Given the description of an element on the screen output the (x, y) to click on. 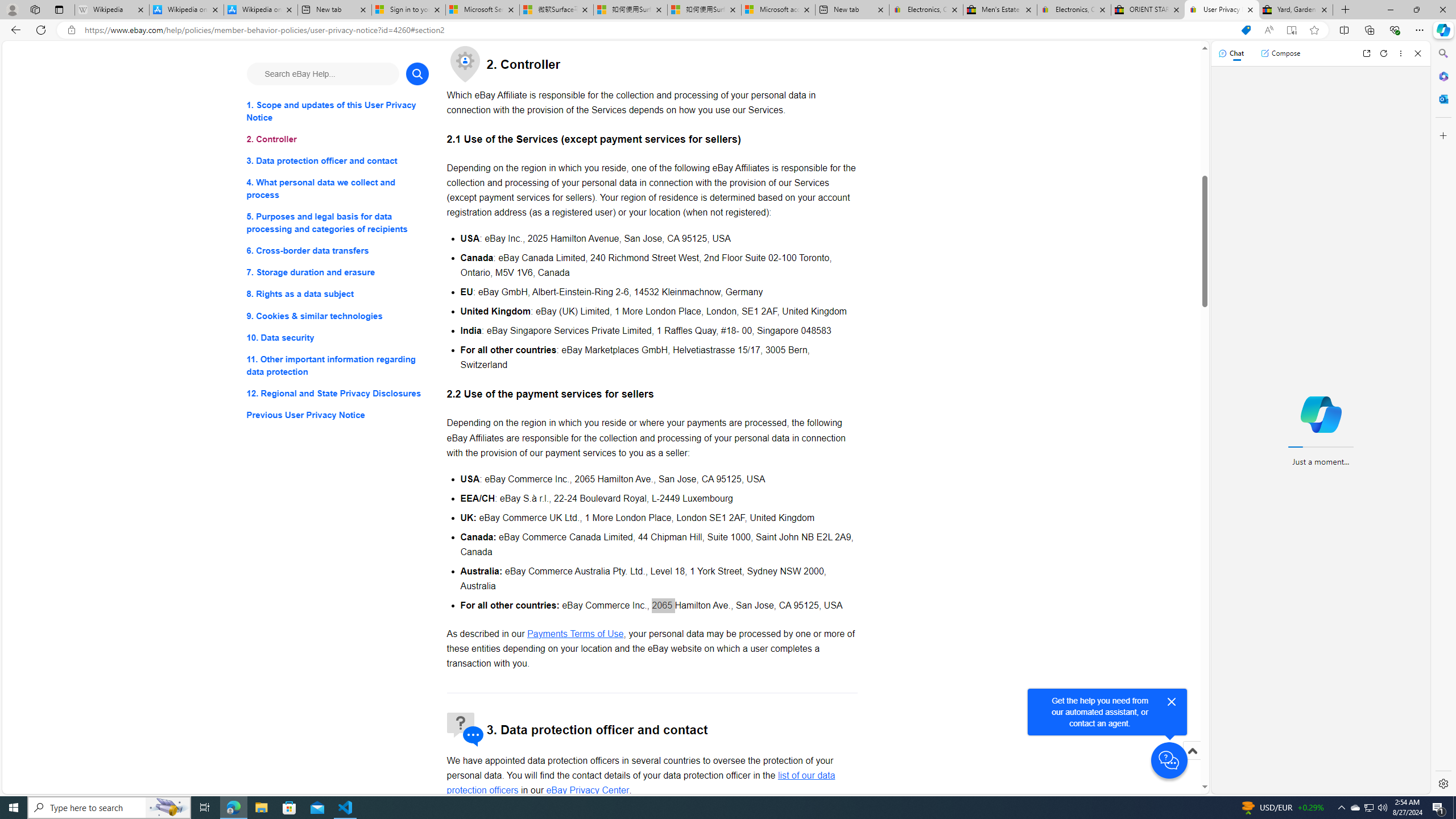
10. Data security (337, 336)
3. Data protection officer and contact (337, 160)
6. Cross-border data transfers (337, 250)
12. Regional and State Privacy Disclosures (337, 392)
2. Controller (337, 138)
9. Cookies & similar technologies (337, 315)
